Given the description of an element on the screen output the (x, y) to click on. 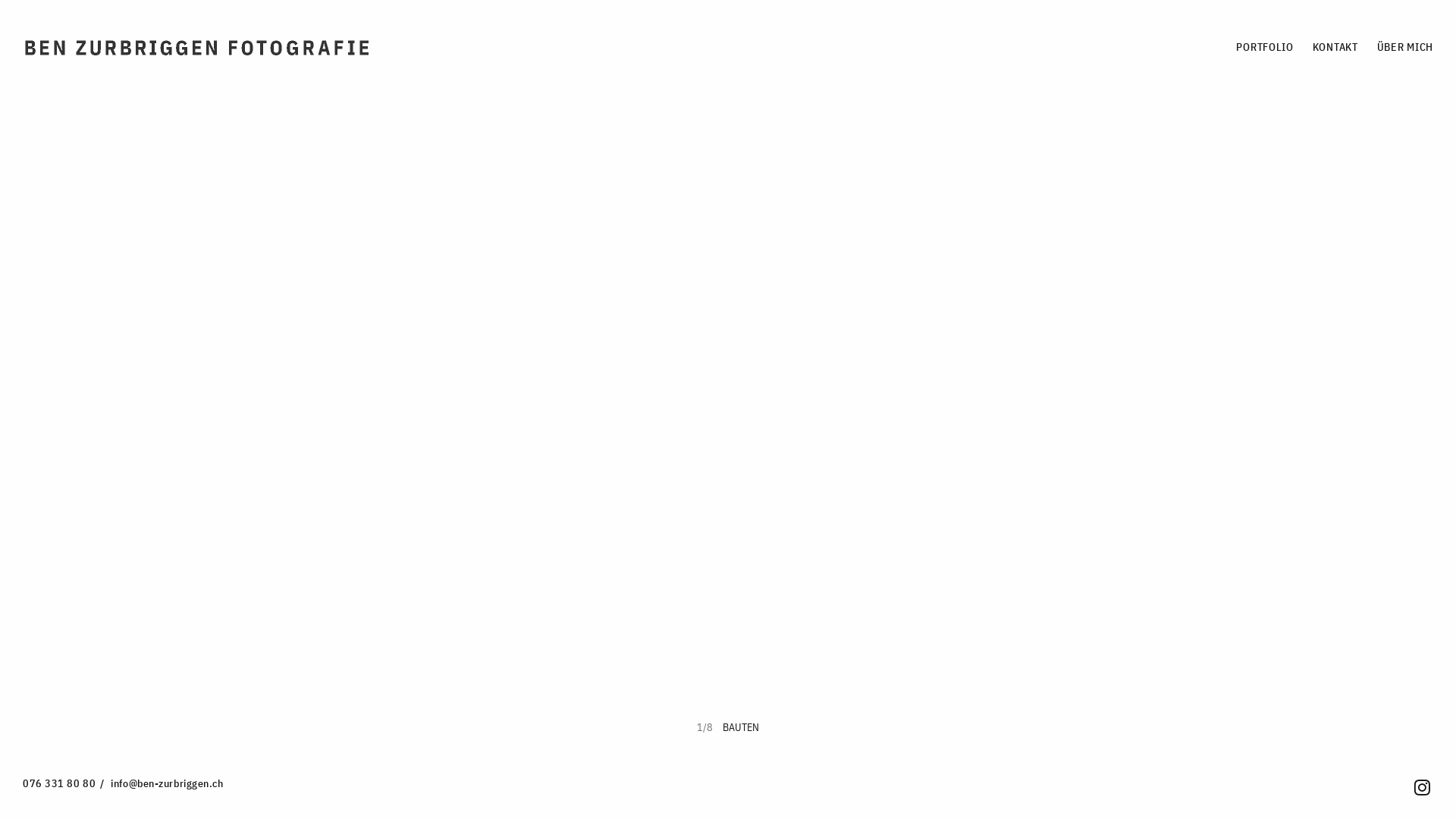
PORTFOLIO Element type: text (1264, 46)
info@ben-zurbriggen.ch Element type: text (166, 783)
KONTAKT Element type: text (1335, 46)
076 331 80 80 Element type: text (58, 783)
